Given the description of an element on the screen output the (x, y) to click on. 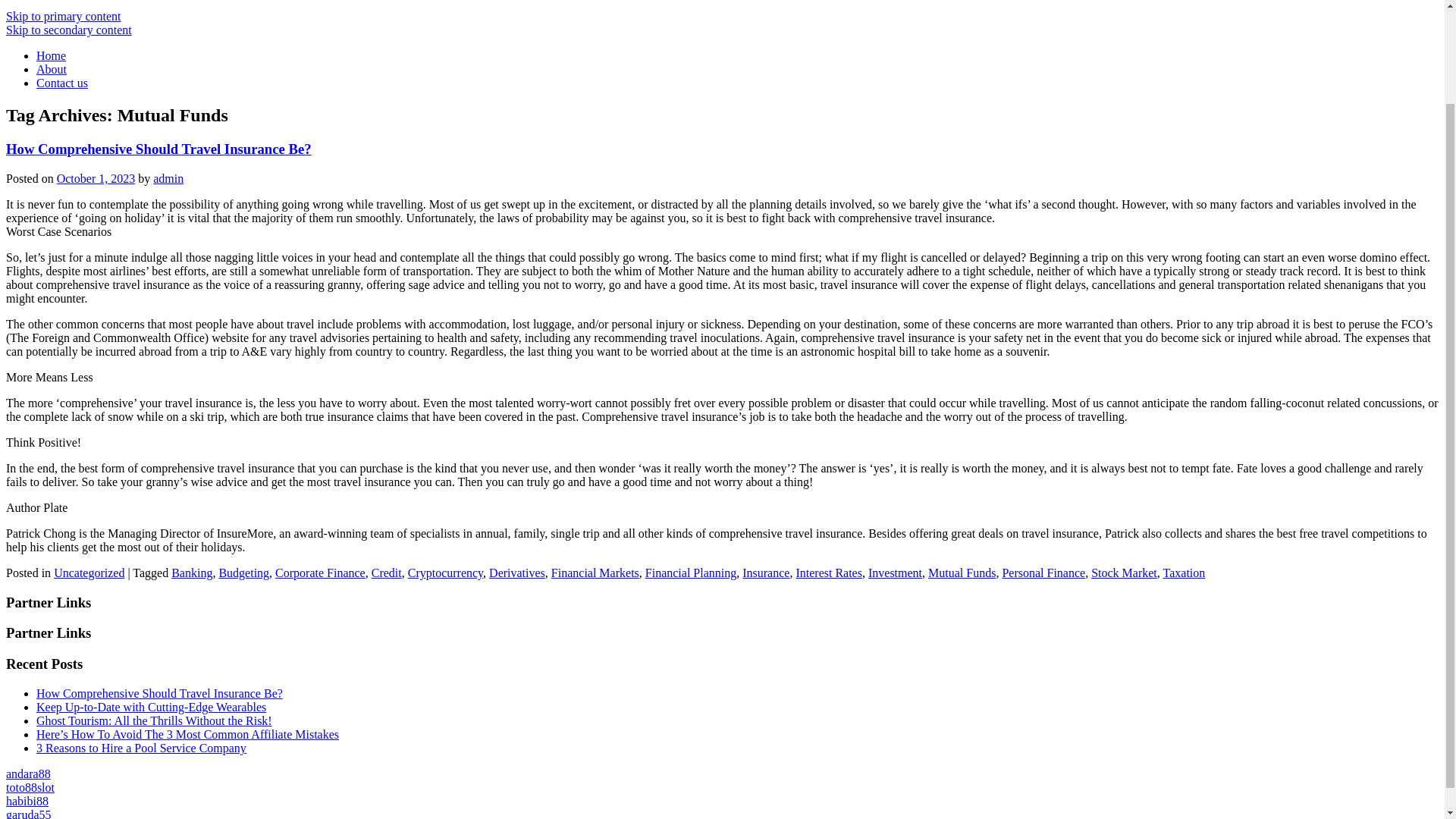
habibi88 (26, 800)
Contact us (61, 82)
toto88slot (30, 787)
3 Reasons to Hire a Pool Service Company (141, 748)
Investment (894, 572)
About (51, 69)
View all posts in Uncategorized (88, 572)
5:51 pm (95, 178)
Mutual Funds (961, 572)
Derivatives (516, 572)
Budgeting (243, 572)
Skip to primary content (62, 15)
Interest Rates (827, 572)
Taxation (1184, 572)
October 1, 2023 (95, 178)
